Given the description of an element on the screen output the (x, y) to click on. 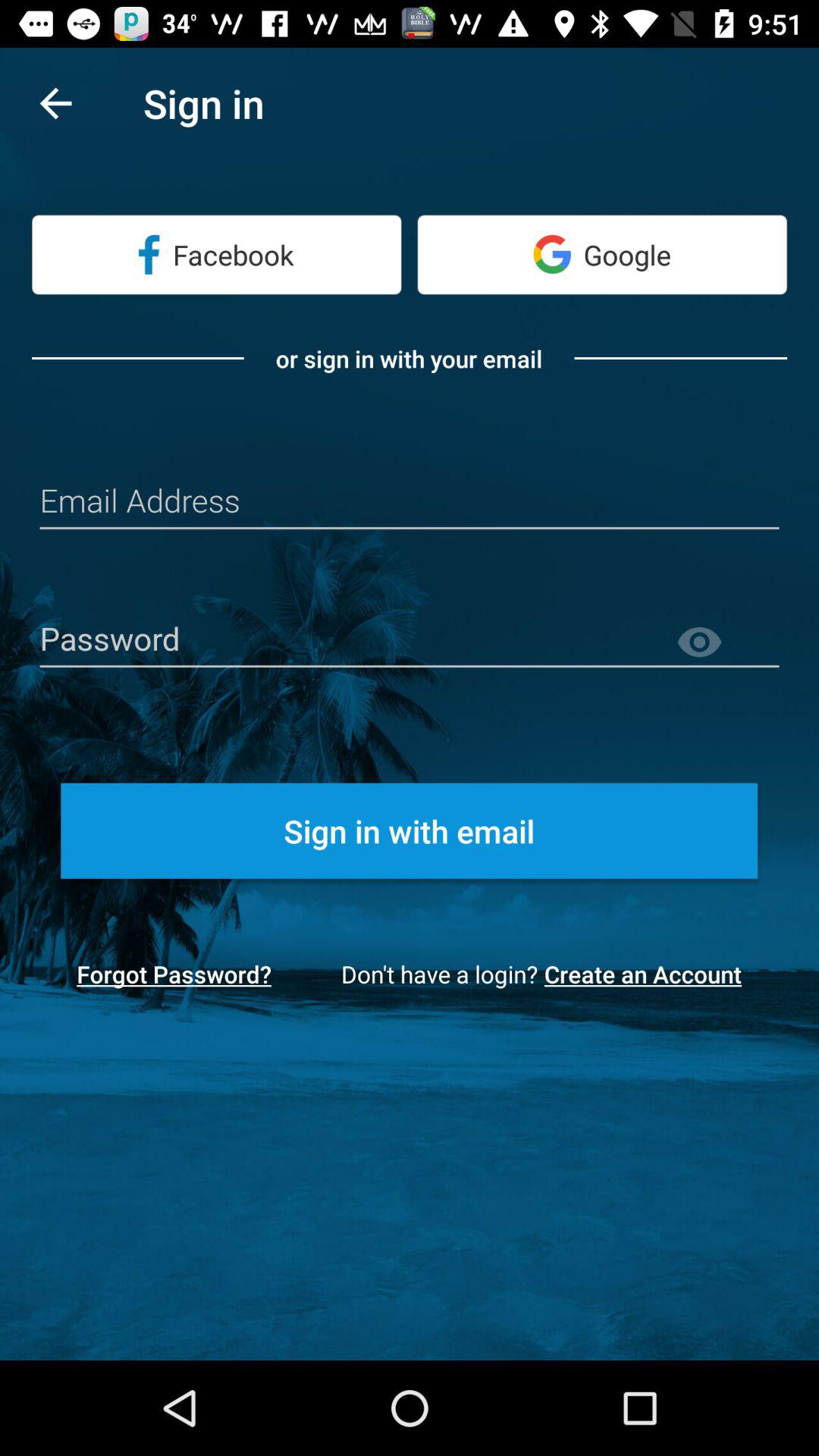
press the item below sign in with item (647, 974)
